Given the description of an element on the screen output the (x, y) to click on. 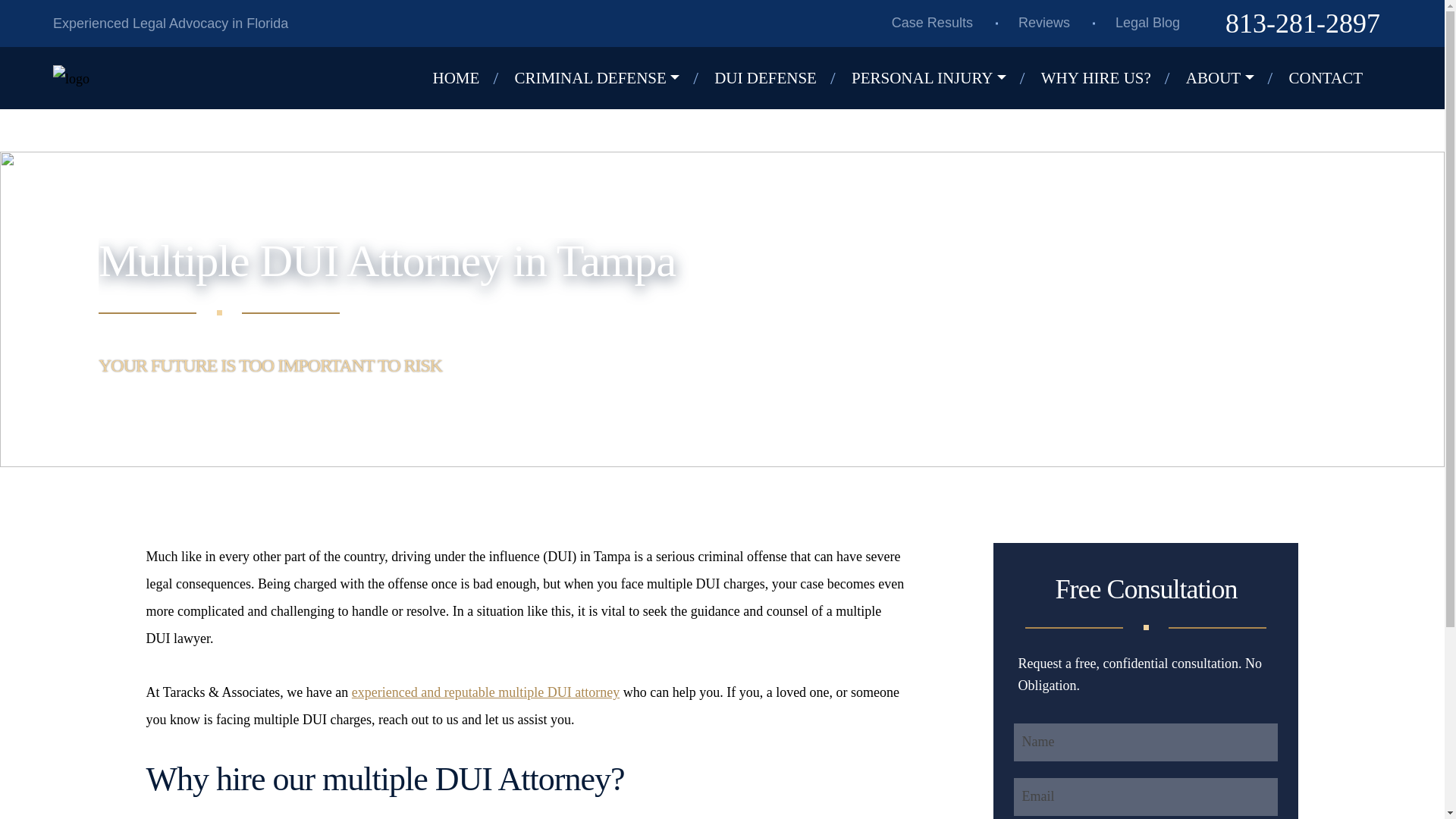
Criminal Defense (607, 78)
CRIMINAL DEFENSE (607, 78)
Case Results (932, 22)
HOME (467, 78)
DUI DEFENSE (777, 78)
CONTACT (1337, 78)
PERSONAL INJURY (940, 78)
Home (467, 78)
ABOUT (1231, 78)
813-281-2897 (1302, 23)
WHY HIRE US? (1107, 78)
experienced and reputable multiple DUI attorney (486, 692)
Legal Blog (1147, 22)
Reviews (1044, 22)
